Given the description of an element on the screen output the (x, y) to click on. 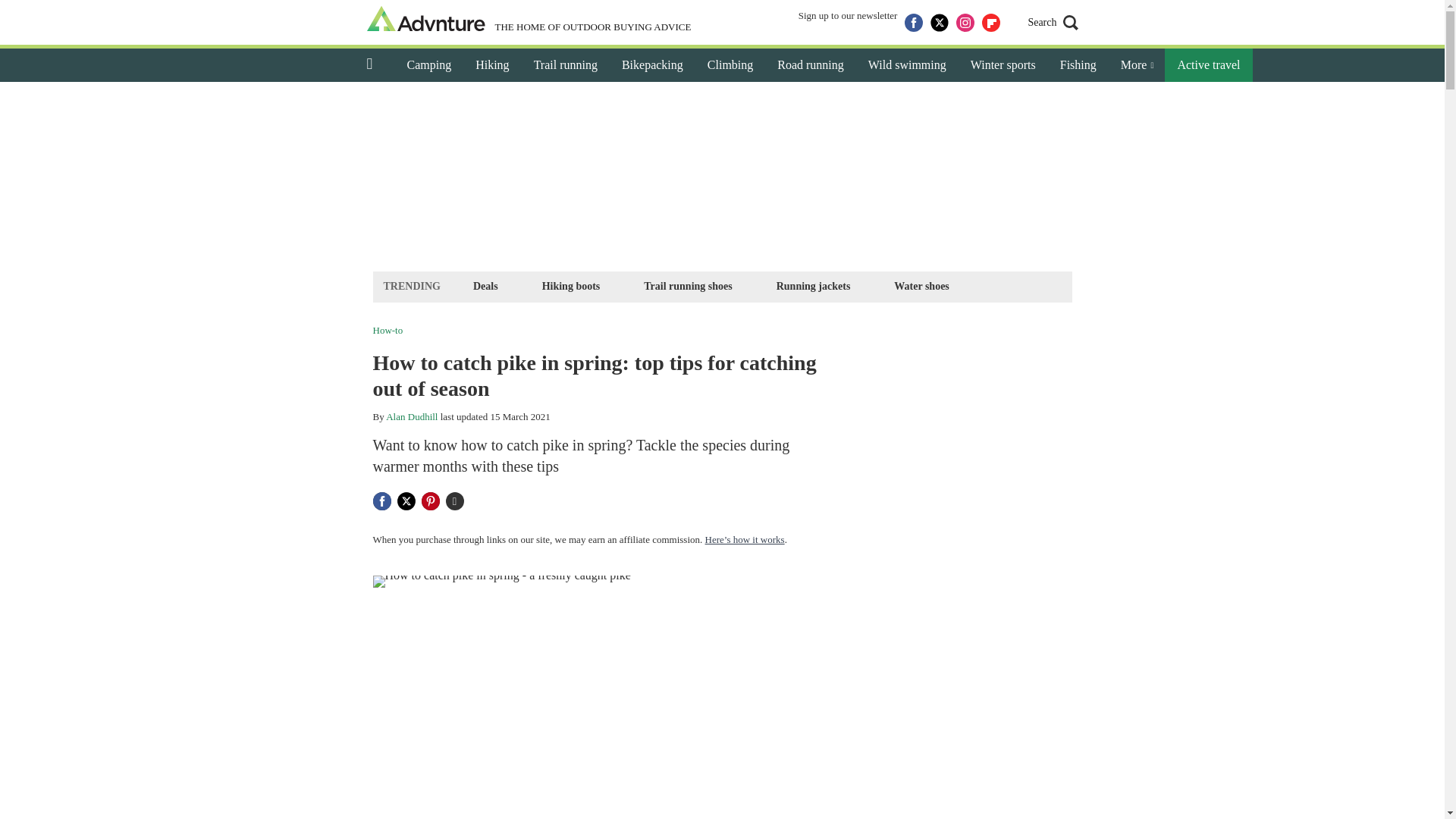
Hiking boots (571, 286)
Bikepacking (652, 64)
Alan Dudhill (411, 416)
Fishing (1078, 64)
Climbing (730, 64)
Water shoes (920, 286)
Running jackets (813, 286)
Road running (810, 64)
Trail running (565, 64)
Deals (485, 286)
